Given the description of an element on the screen output the (x, y) to click on. 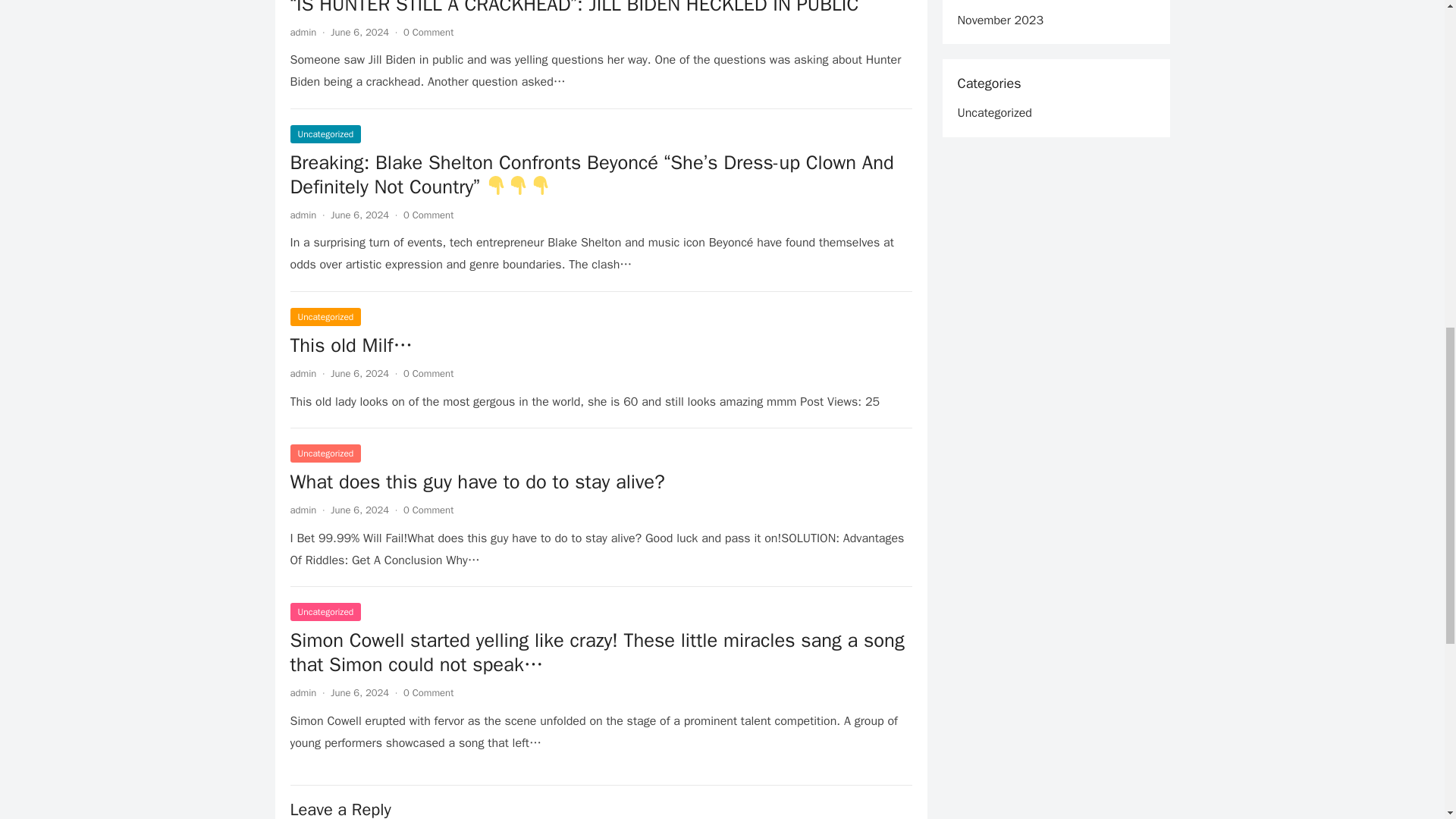
Uncategorized (325, 453)
0 Comment (427, 31)
admin (302, 692)
Posts by admin (302, 214)
Posts by admin (302, 509)
0 Comment (427, 692)
Posts by admin (302, 373)
admin (302, 373)
Uncategorized (325, 316)
0 Comment (427, 214)
